Given the description of an element on the screen output the (x, y) to click on. 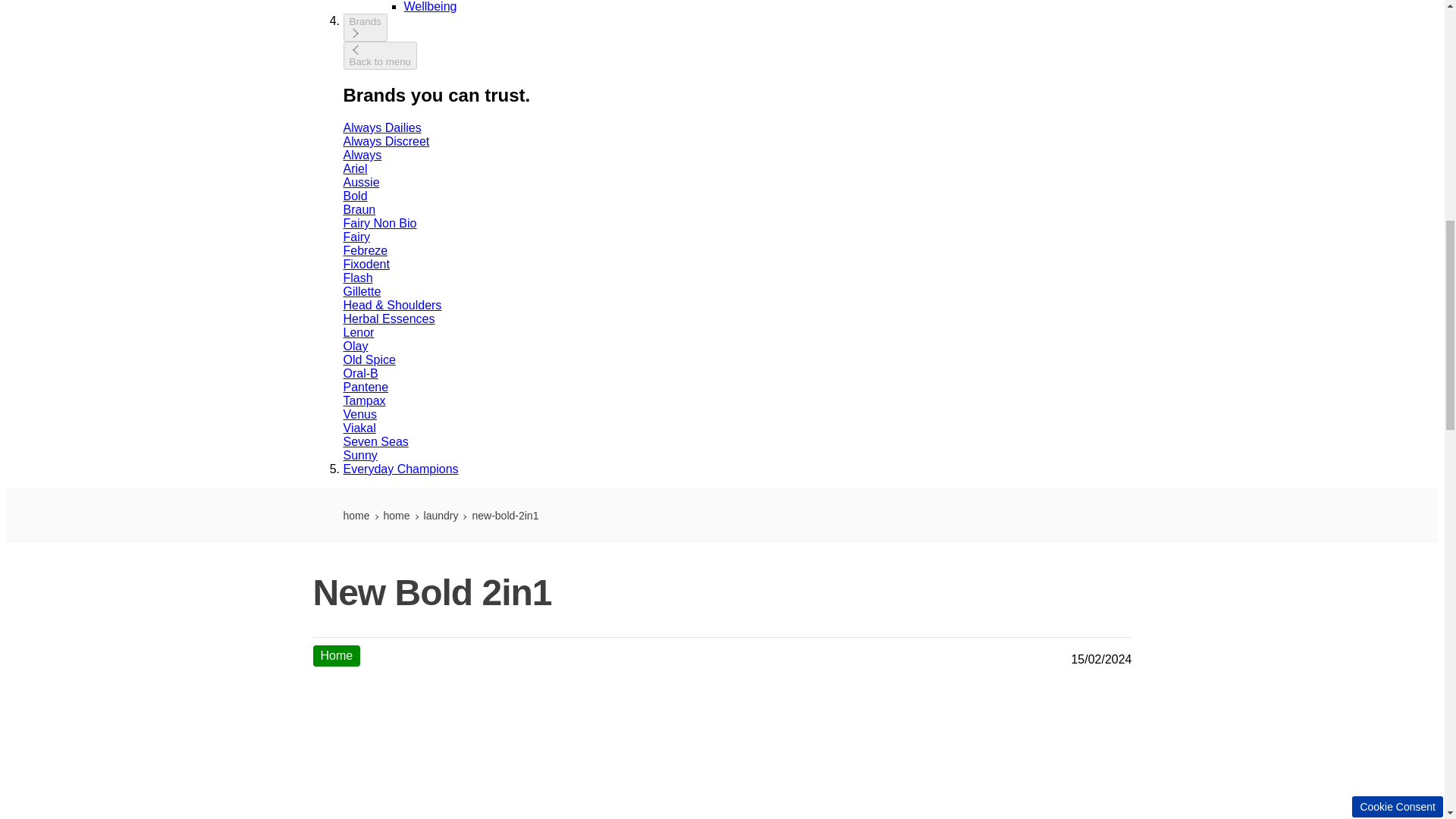
Wellbeing (430, 6)
